Given the description of an element on the screen output the (x, y) to click on. 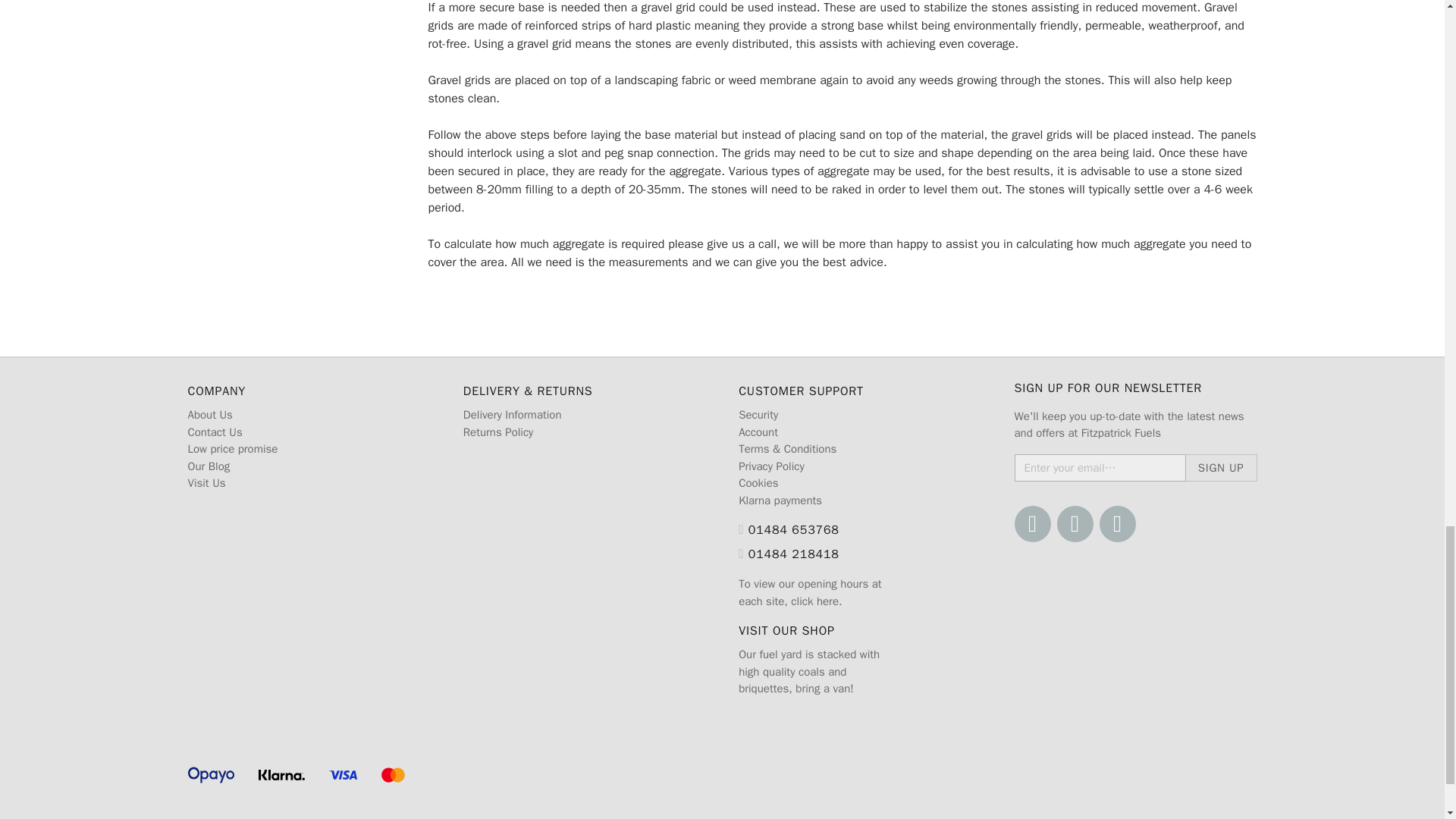
Visa (342, 774)
Klarna (281, 774)
Blog (1117, 524)
Opayo (210, 774)
Facebook profile (1032, 524)
Twitter profile (1075, 524)
Mastercard (393, 774)
